Given the description of an element on the screen output the (x, y) to click on. 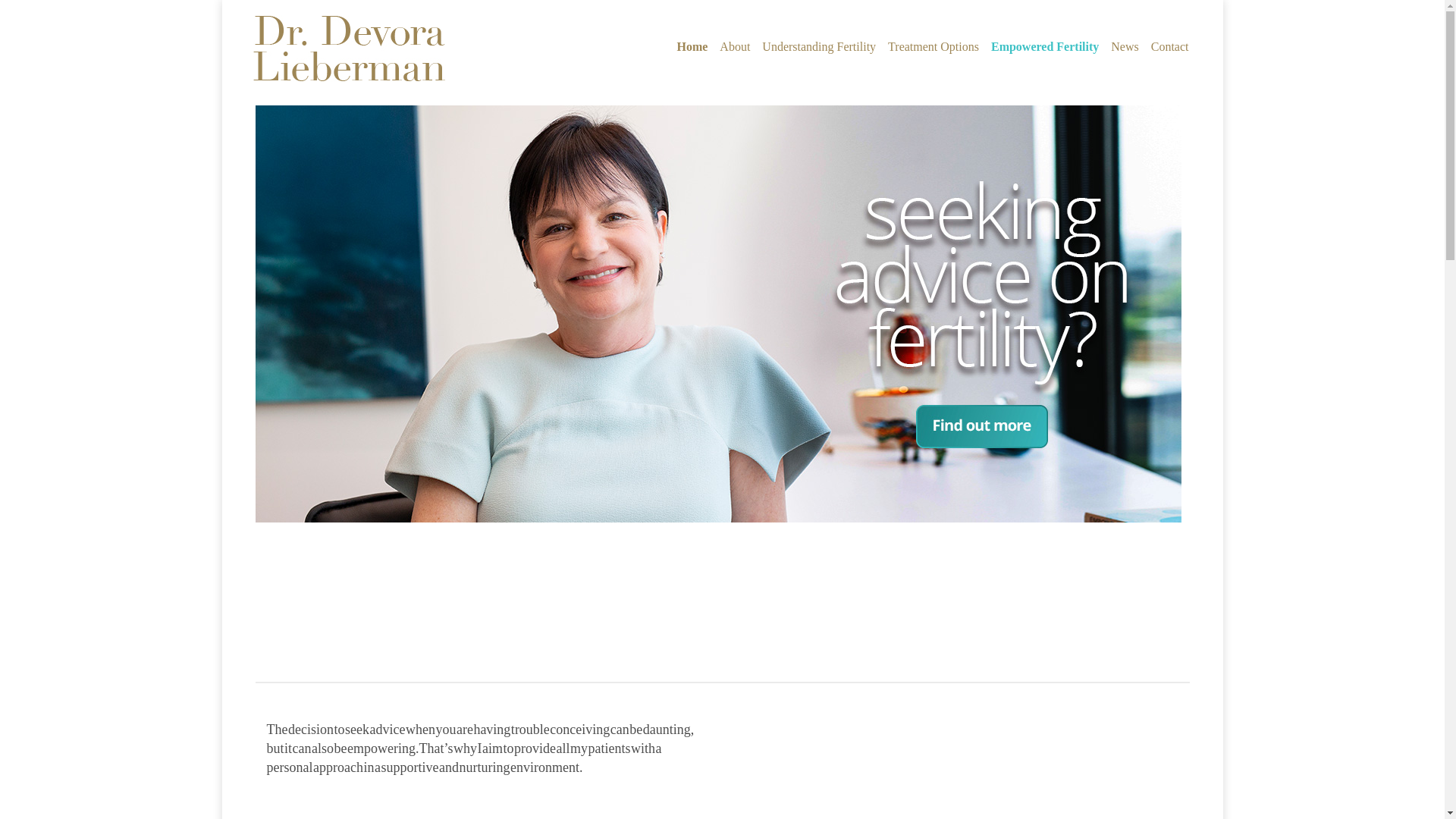
About Element type: text (734, 47)
Empowered Fertility Element type: text (1044, 47)
News Element type: text (1124, 47)
Advice on fertility Element type: hover (717, 313)
Contact Element type: text (1169, 47)
Treatment Options Element type: text (933, 47)
Understanding Fertility Element type: text (818, 47)
Home Element type: text (691, 47)
